Given the description of an element on the screen output the (x, y) to click on. 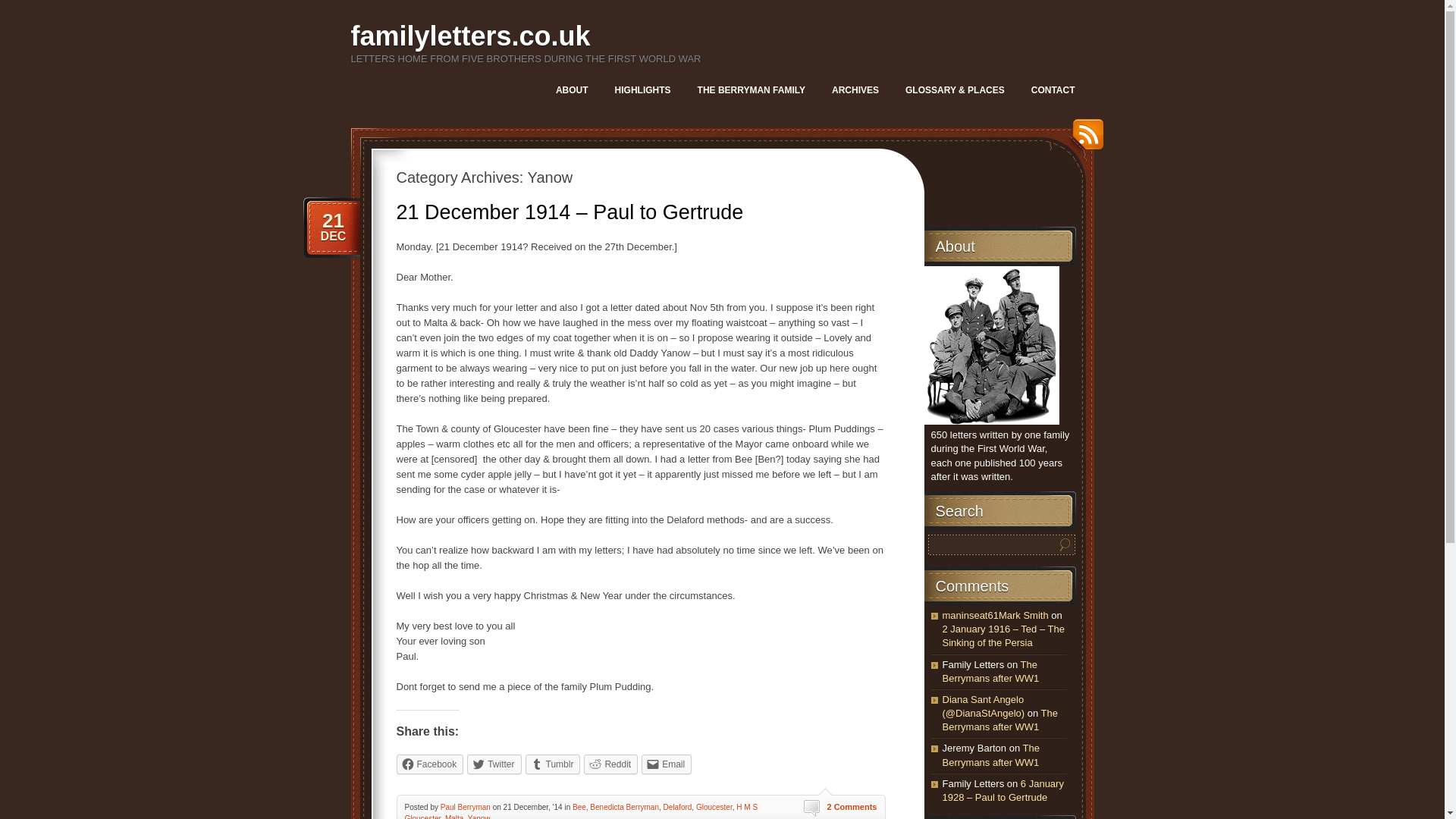
ARCHIVES (855, 89)
Click to share on Tumblr (552, 763)
Click to share on Facebook (429, 763)
THE BERRYMAN FAMILY (751, 89)
Click to email this to a friend (666, 763)
familyletters.co.uk (469, 35)
familyletters.co.uk (469, 35)
HIGHLIGHTS (642, 89)
ABOUT (571, 89)
Posts by Paul Berryman (465, 807)
CONTACT (1053, 89)
Search (1064, 544)
Click to share on Twitter (494, 763)
Click to share on Reddit (610, 763)
